Given the description of an element on the screen output the (x, y) to click on. 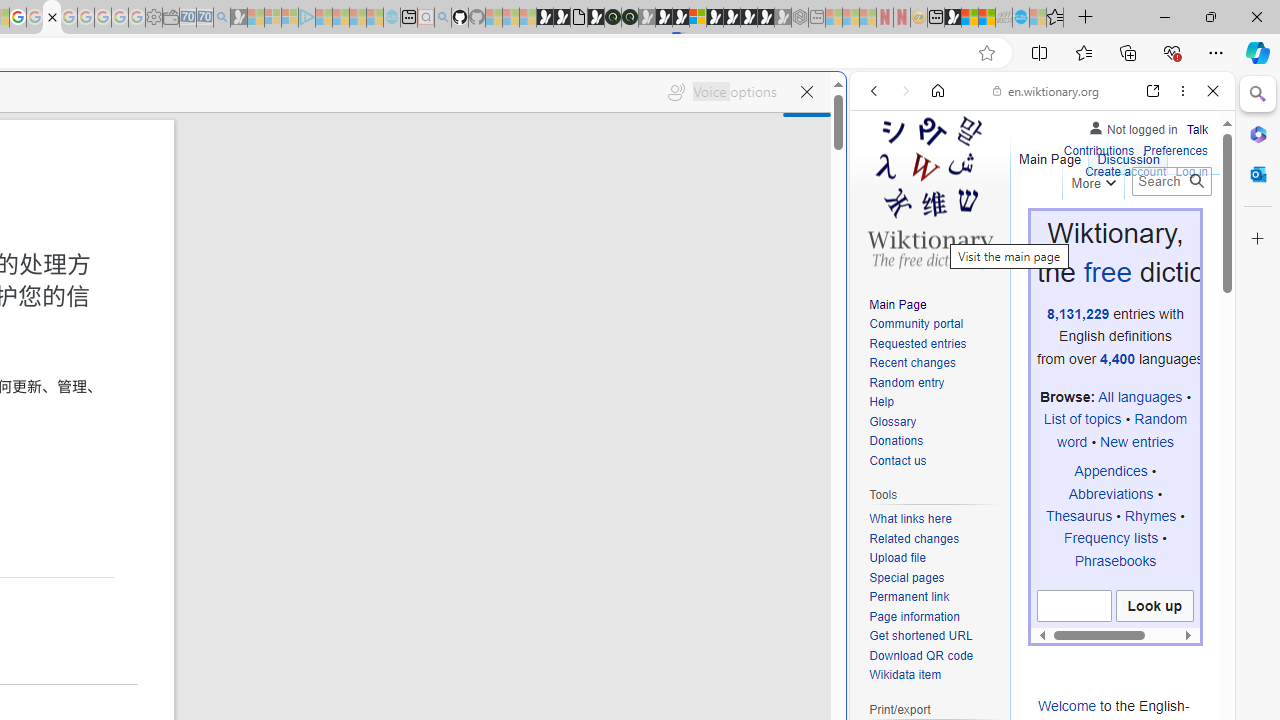
Create account (1125, 172)
en.wiktionary.org (1046, 90)
Upload file (934, 558)
Contact us (934, 461)
Discussion (1128, 154)
Main Page (934, 305)
Donations (934, 442)
Look up (1154, 605)
Get shortened URL (934, 637)
